Given the description of an element on the screen output the (x, y) to click on. 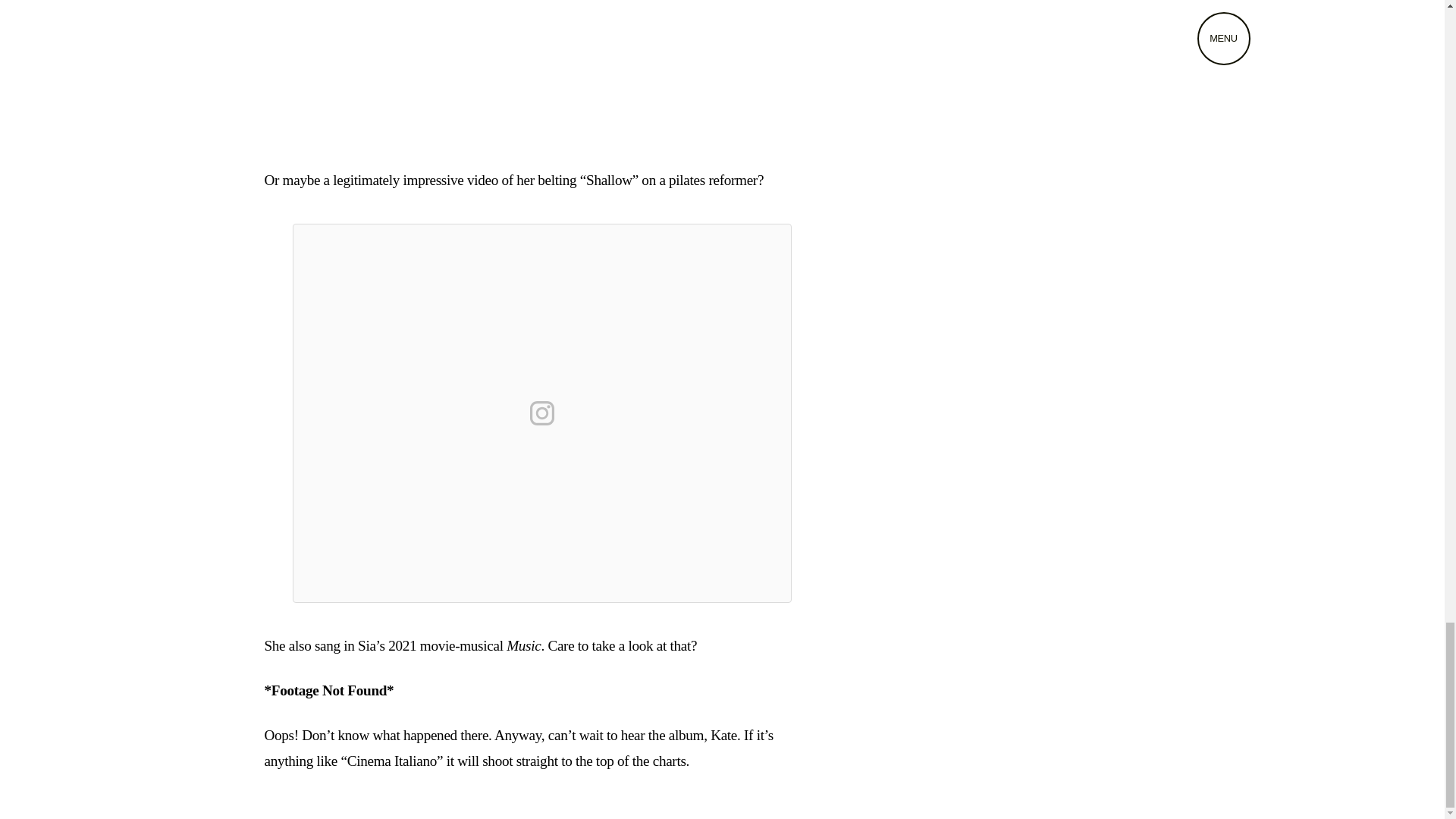
View on Instagram (540, 412)
